Given the description of an element on the screen output the (x, y) to click on. 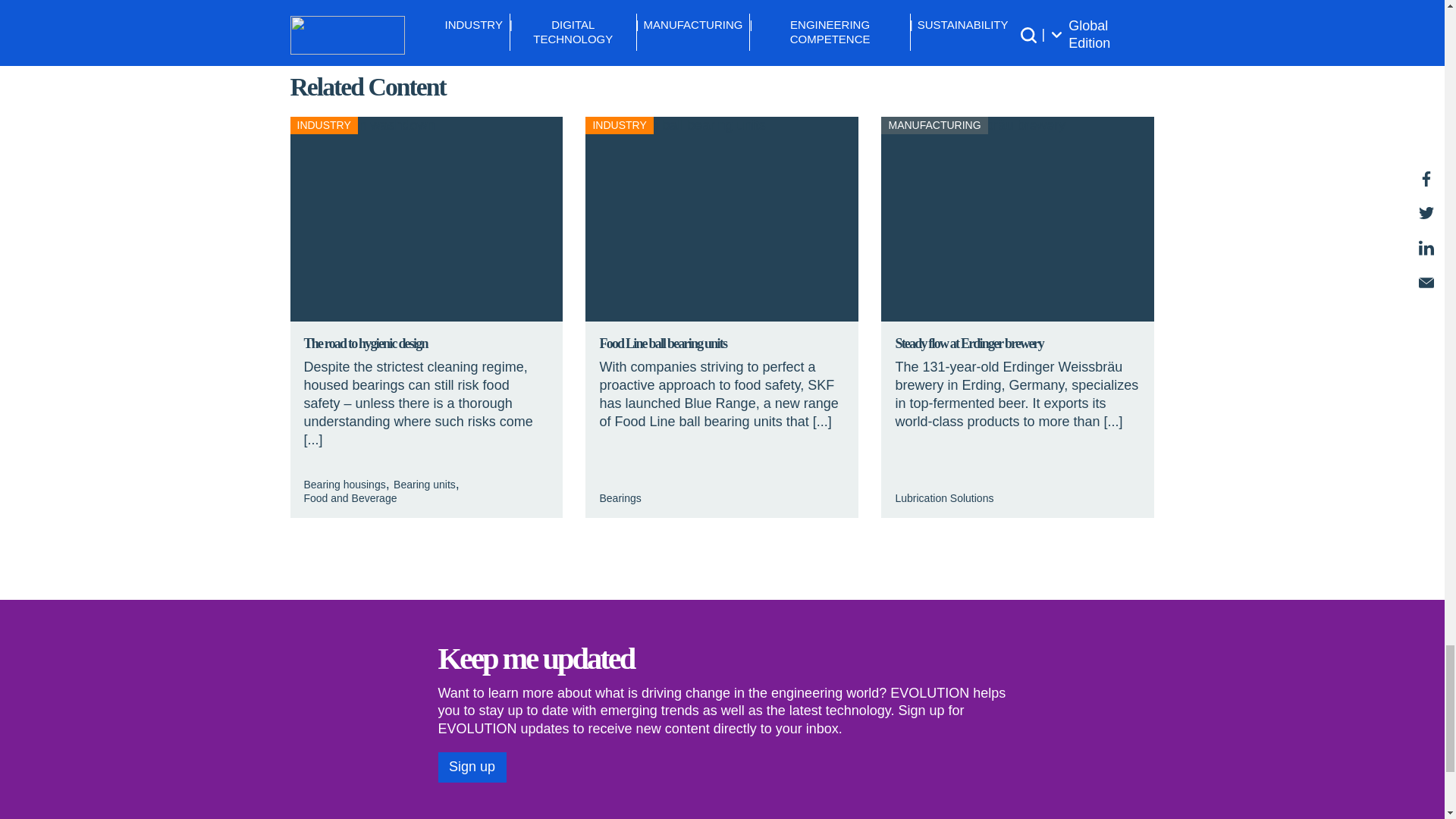
Bearing units (424, 484)
Food and Beverage (349, 498)
Sign up (472, 767)
Bearings (619, 498)
Lubrication Solutions (943, 498)
Bearing housings (343, 484)
